Given the description of an element on the screen output the (x, y) to click on. 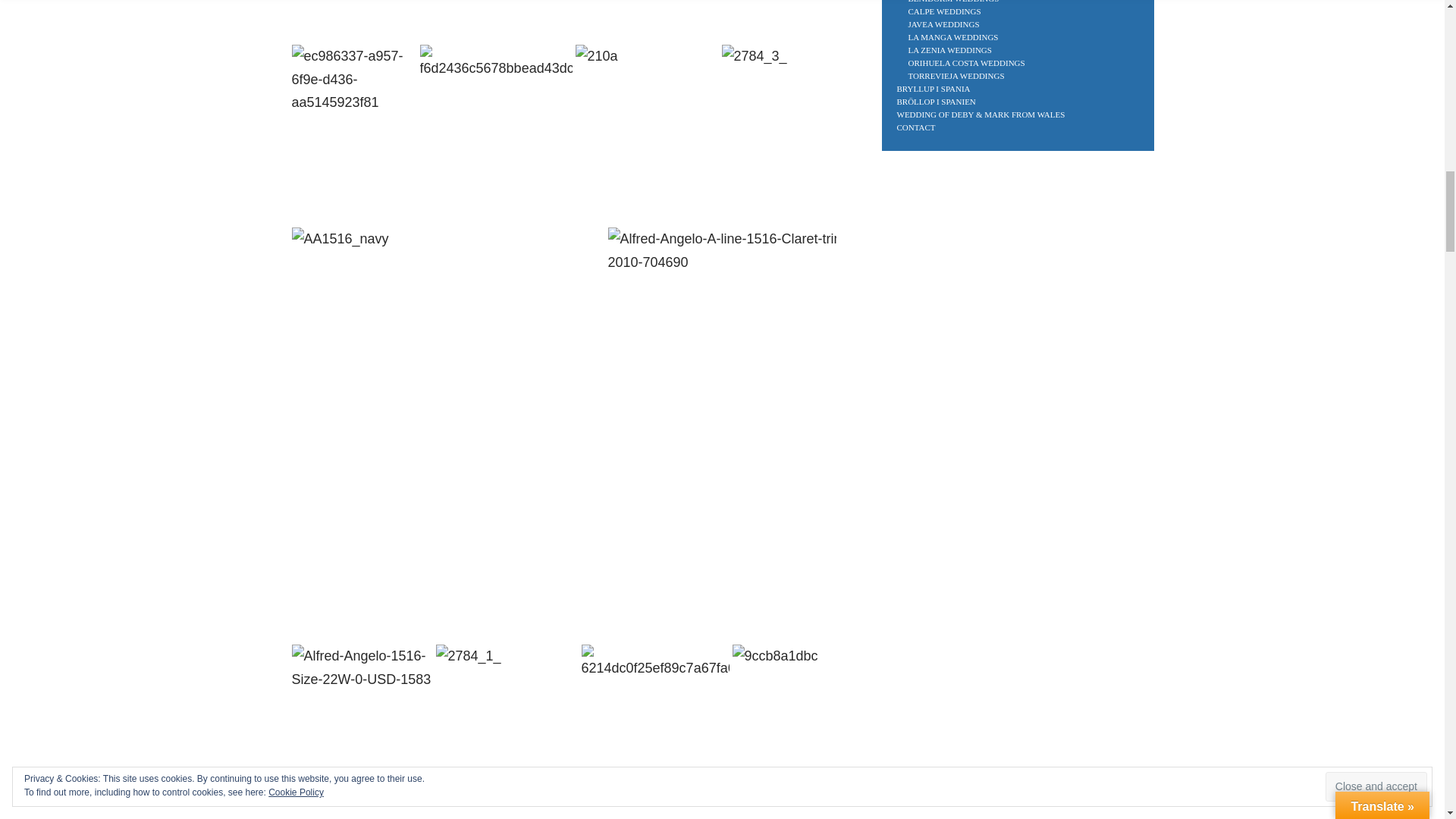
044b953a57 (769, 20)
romantica-of-devon-oceana-3 (394, 20)
66069a19b9 (588, 20)
